Given the description of an element on the screen output the (x, y) to click on. 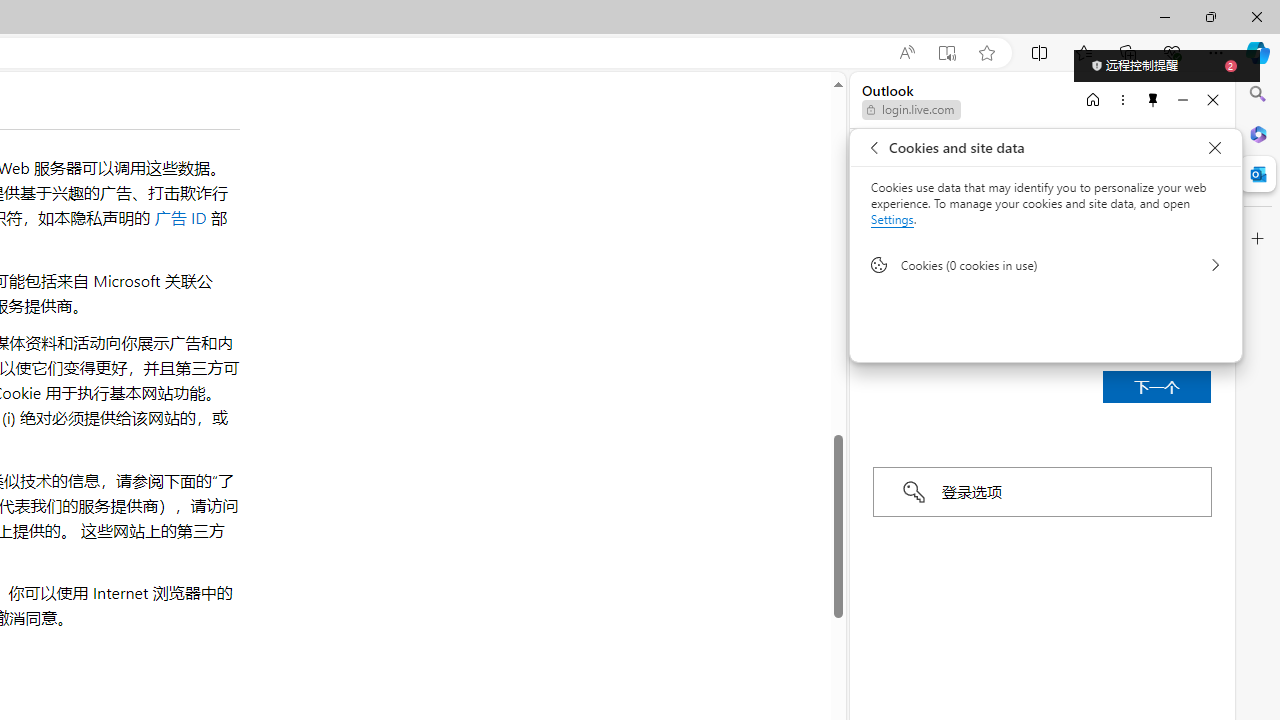
Cookies (0 cookies in use) (1046, 264)
Cookies and site data (1214, 147)
